Given the description of an element on the screen output the (x, y) to click on. 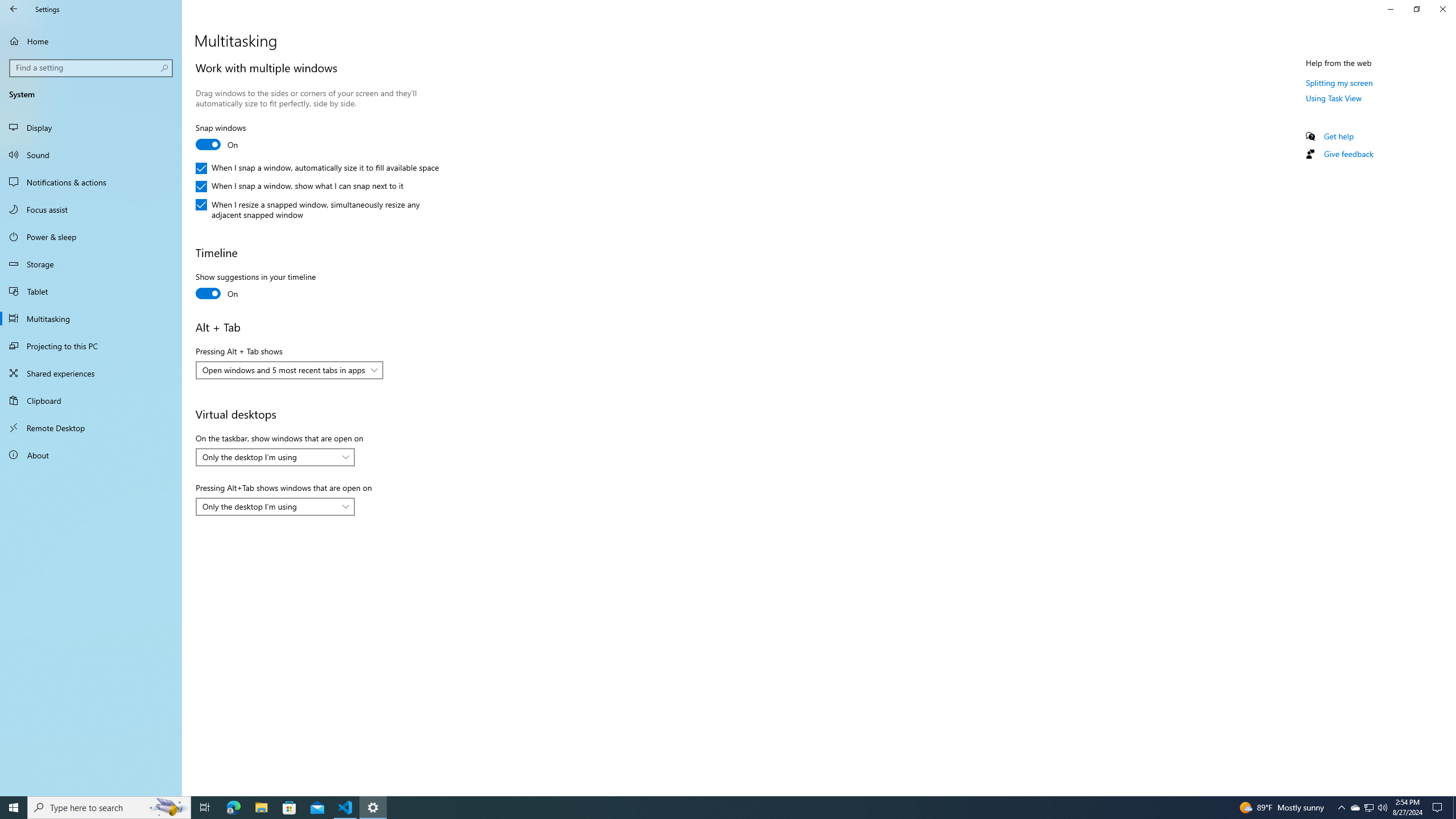
Notifications & actions (91, 181)
Show suggestions in your timeline (255, 286)
About (91, 454)
Display (91, 126)
Using Task View (1334, 97)
On the taskbar, show windows that are open on (275, 456)
